Given the description of an element on the screen output the (x, y) to click on. 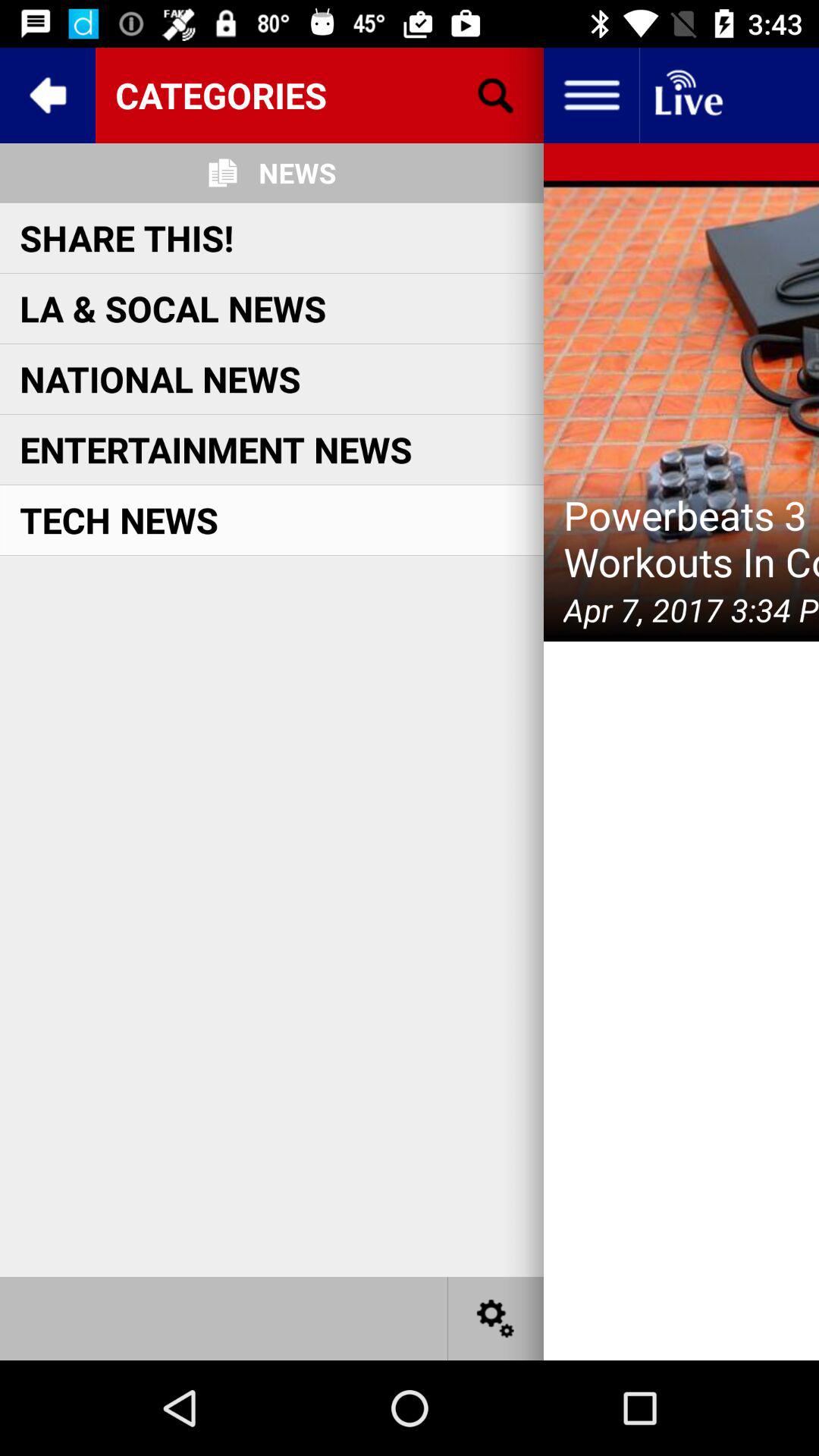
turn on item below la & socal news icon (159, 378)
